Given the description of an element on the screen output the (x, y) to click on. 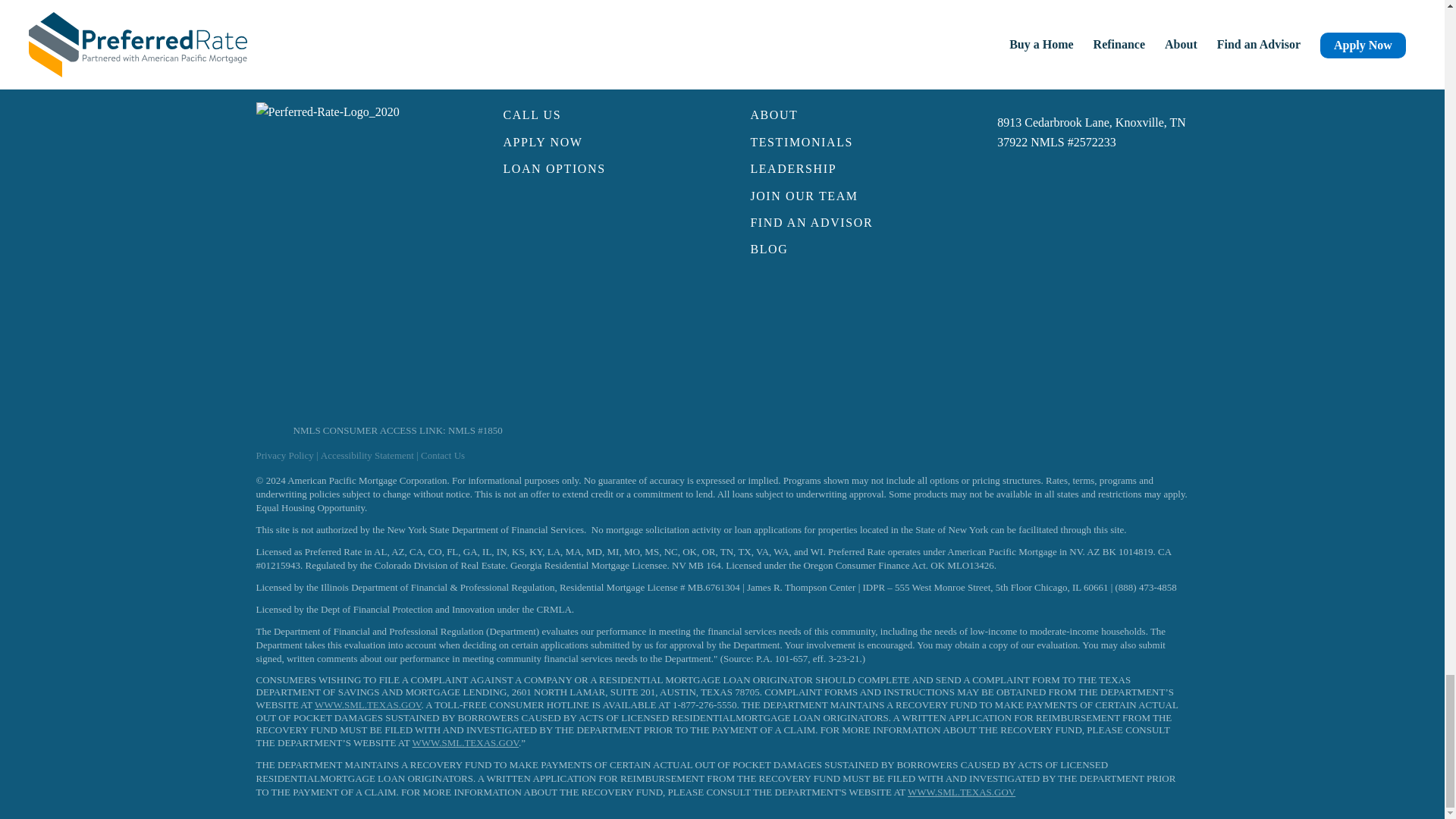
BLOG (844, 249)
FIND AN ADVISOR (844, 222)
LEADERSHIP (844, 169)
ABOUT (844, 115)
APPLY NOW (598, 142)
JOIN OUR TEAM (844, 196)
TESTIMONIALS (844, 142)
CALL US (598, 115)
LOAN OPTIONS (598, 169)
